Given the description of an element on the screen output the (x, y) to click on. 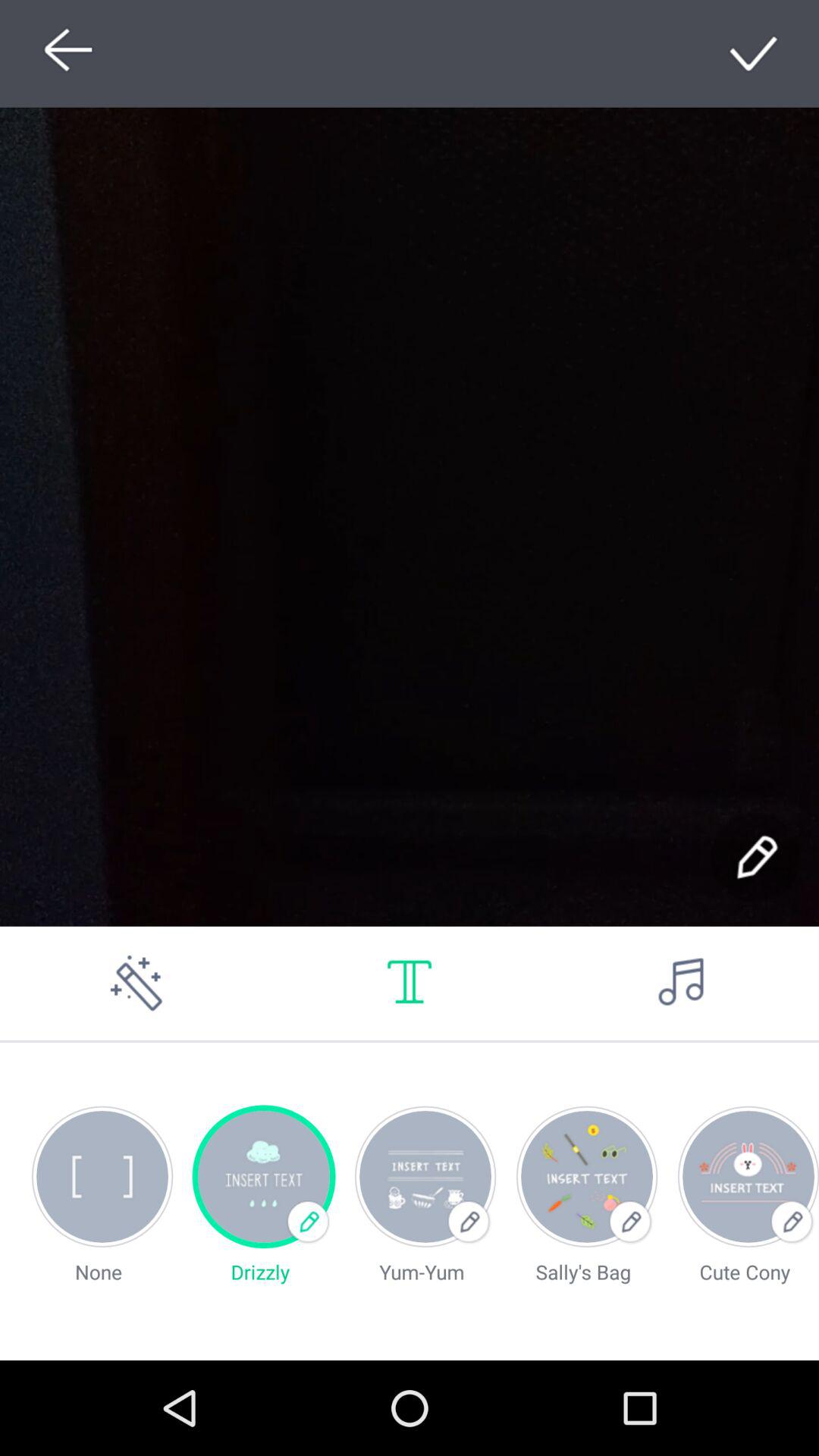
push t (409, 983)
